Given the description of an element on the screen output the (x, y) to click on. 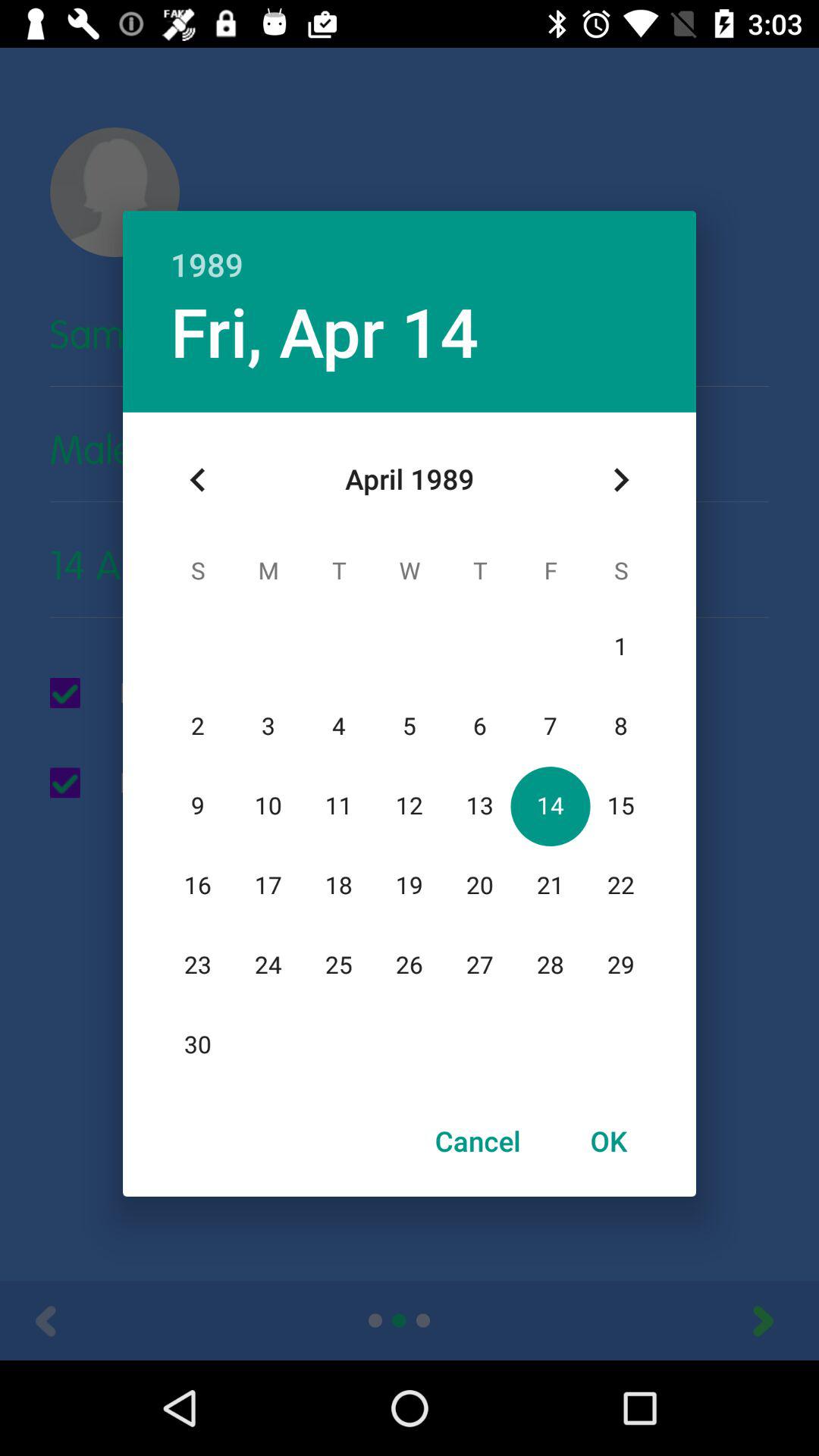
jump to the cancel icon (477, 1140)
